Given the description of an element on the screen output the (x, y) to click on. 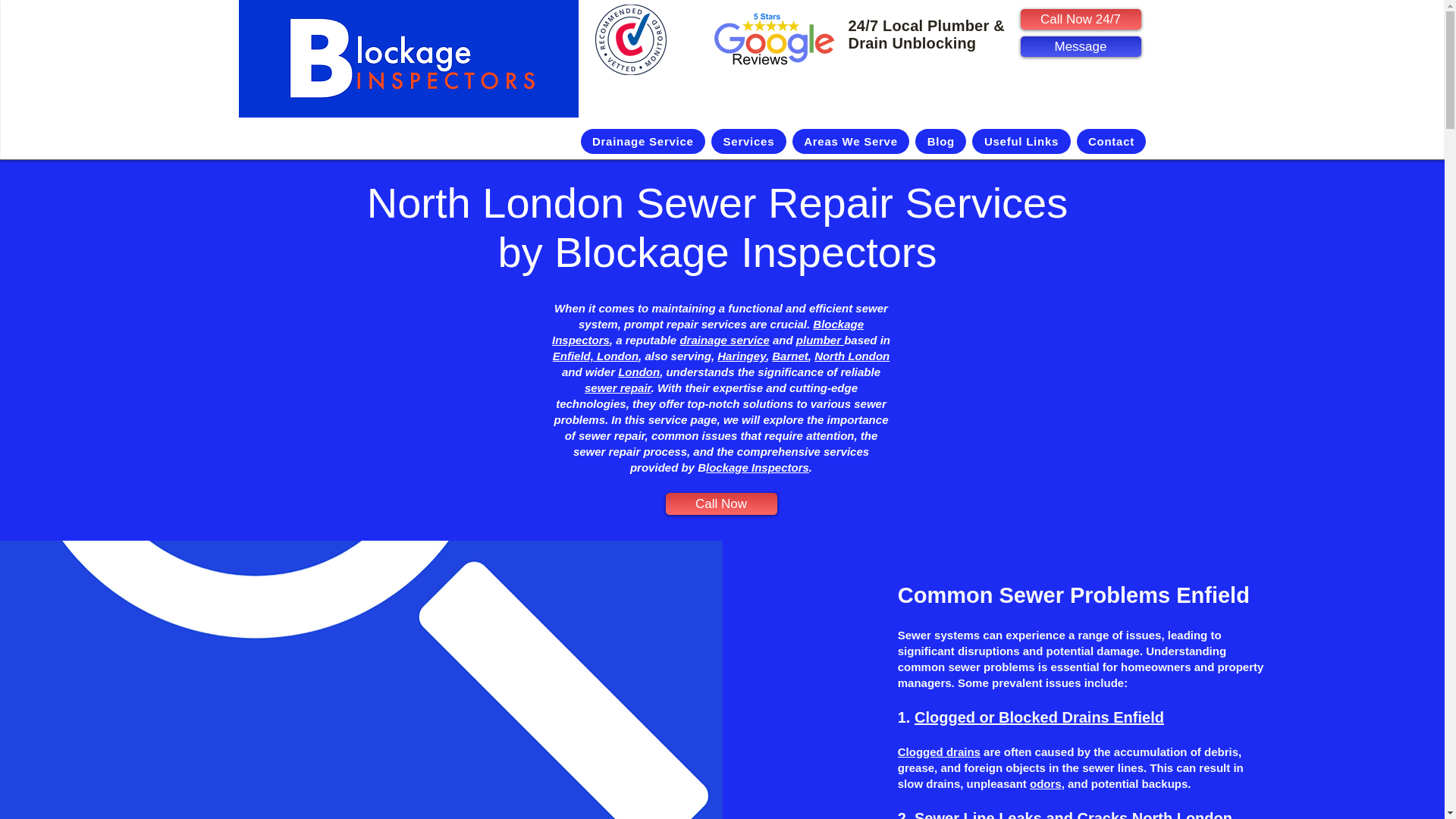
Useful Links (1021, 140)
Message (1080, 46)
Areas We Serve (851, 140)
Blog (940, 140)
Contact (1112, 140)
Drainage Service (643, 140)
Blockage Inspectors (707, 331)
Services (748, 140)
